Given the description of an element on the screen output the (x, y) to click on. 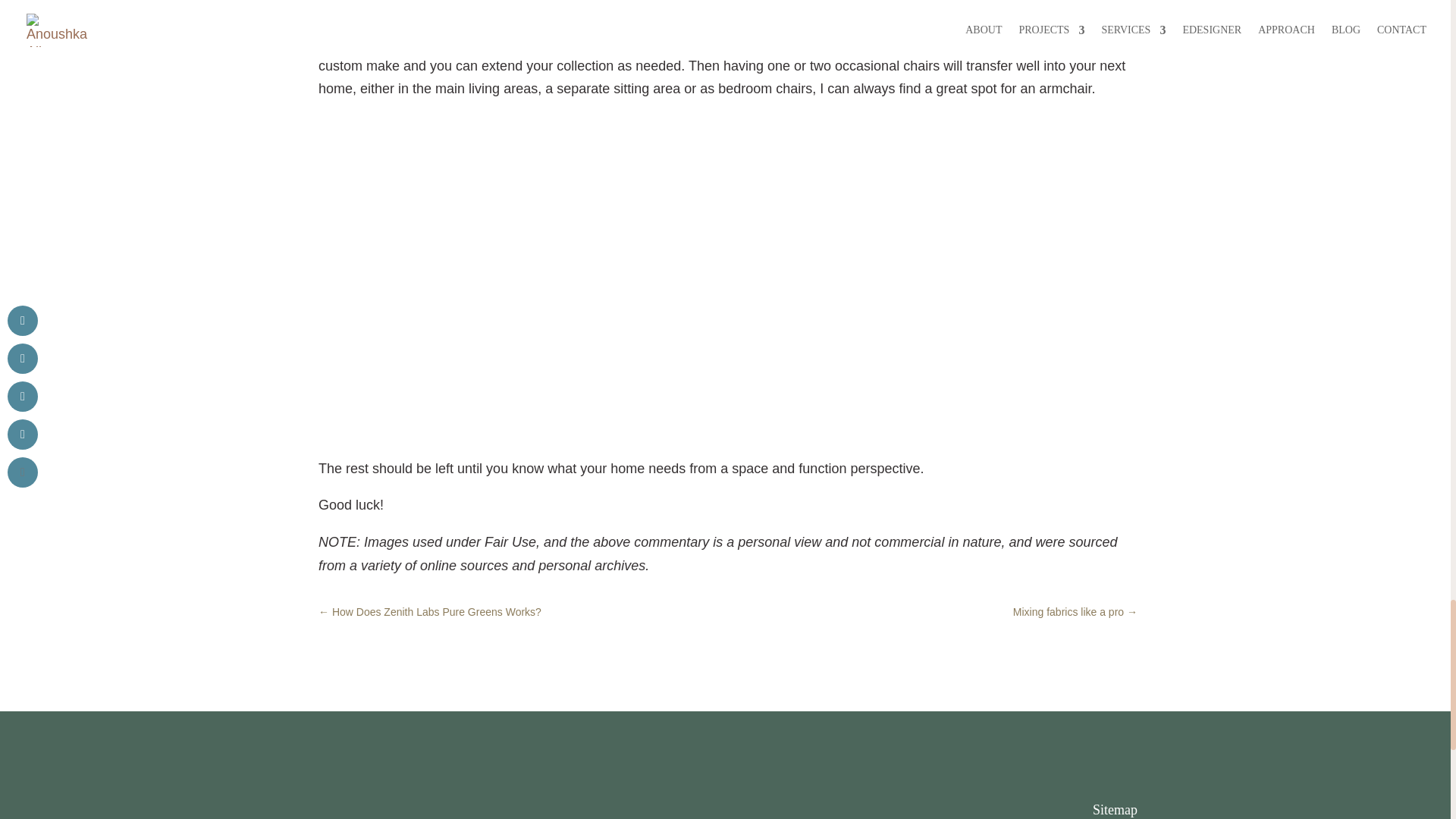
Sitemap (1115, 809)
